Given the description of an element on the screen output the (x, y) to click on. 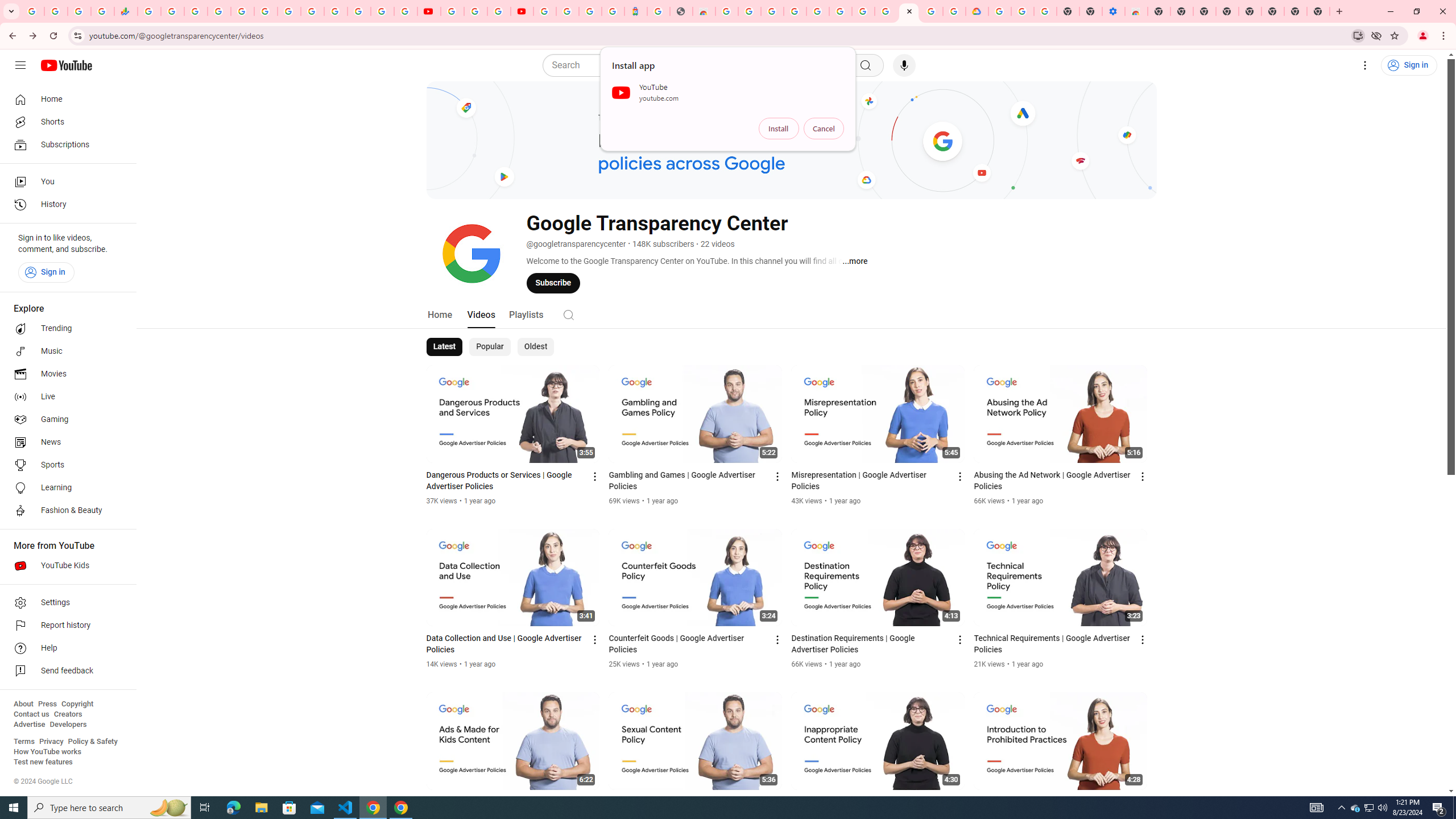
Test new features (42, 761)
